Given the description of an element on the screen output the (x, y) to click on. 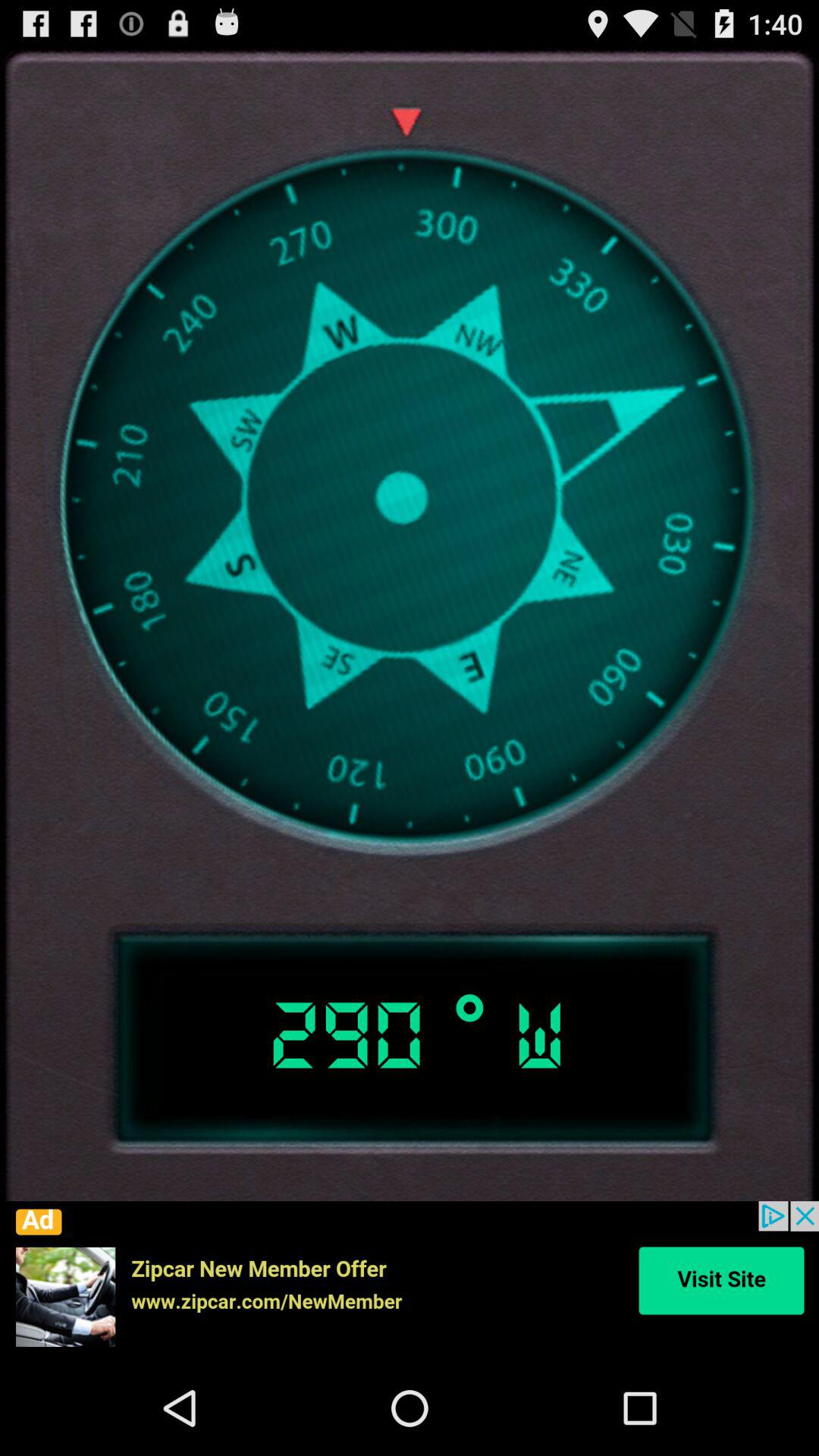
click advertisement (409, 1280)
